Given the description of an element on the screen output the (x, y) to click on. 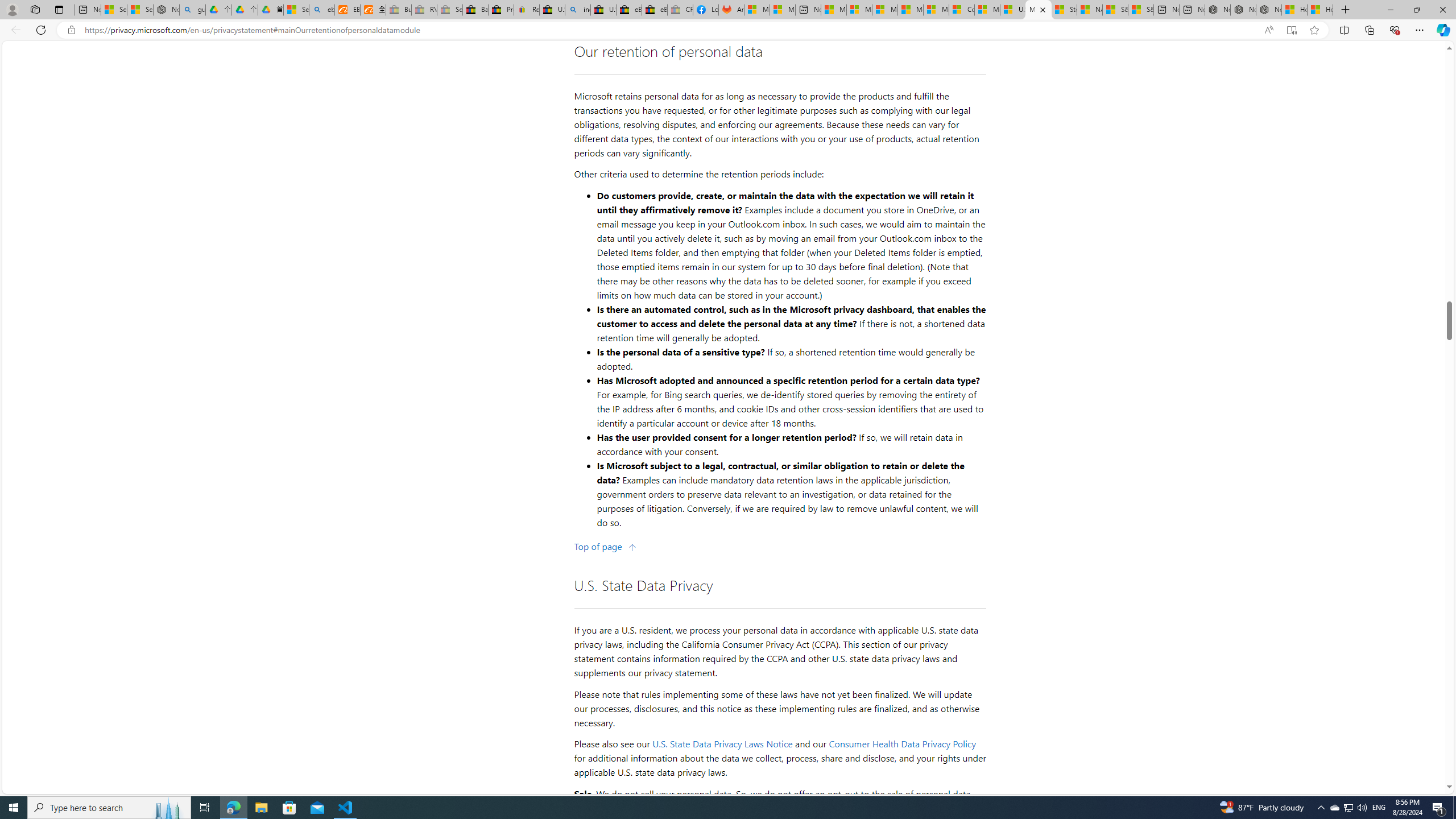
Consumer Health Data Privacy Policy (961, 9)
